Given the description of an element on the screen output the (x, y) to click on. 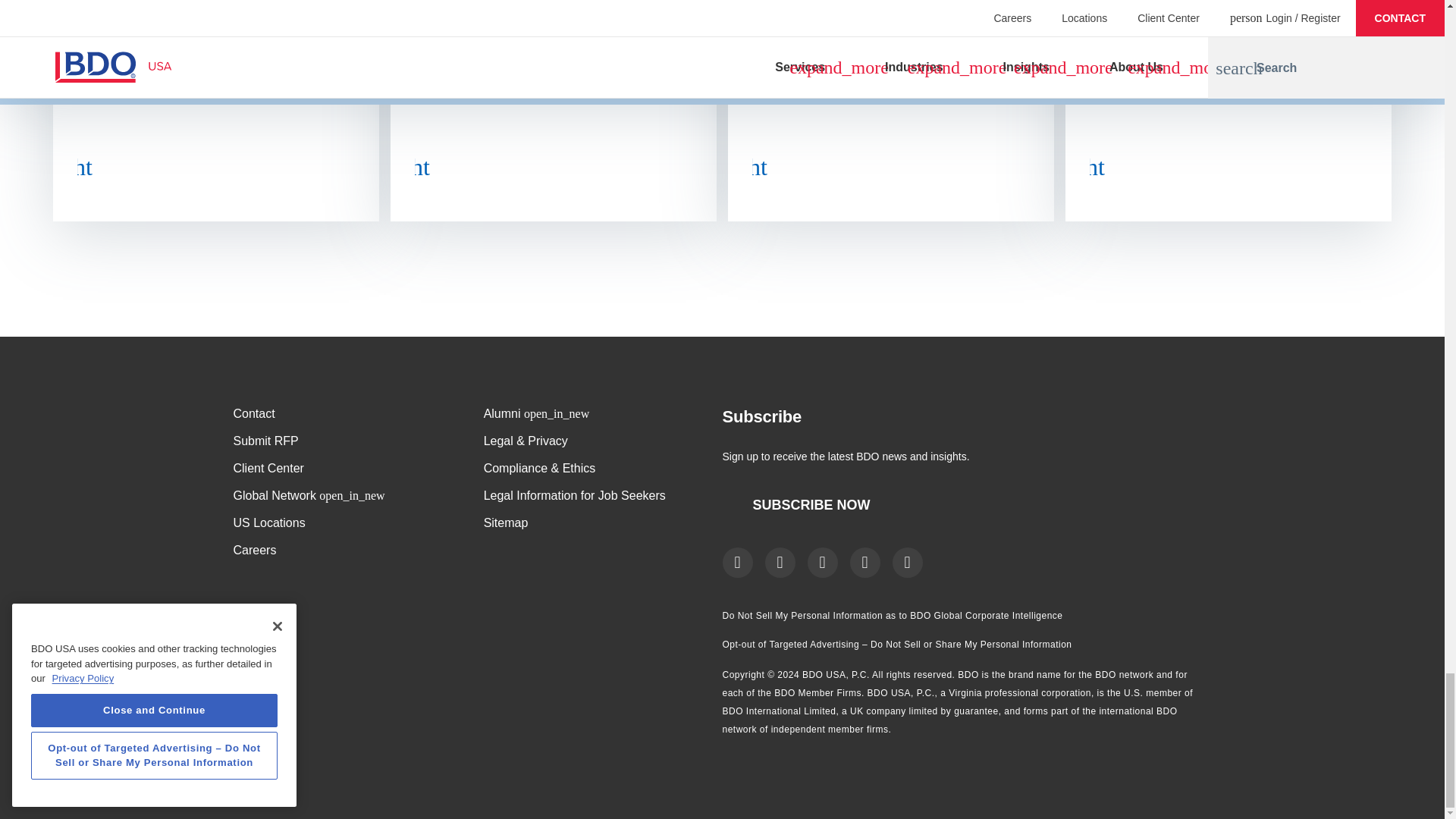
X (779, 562)
YouTube (863, 562)
LinkedIn (821, 562)
Facebook (737, 562)
Instagram (906, 562)
